Given the description of an element on the screen output the (x, y) to click on. 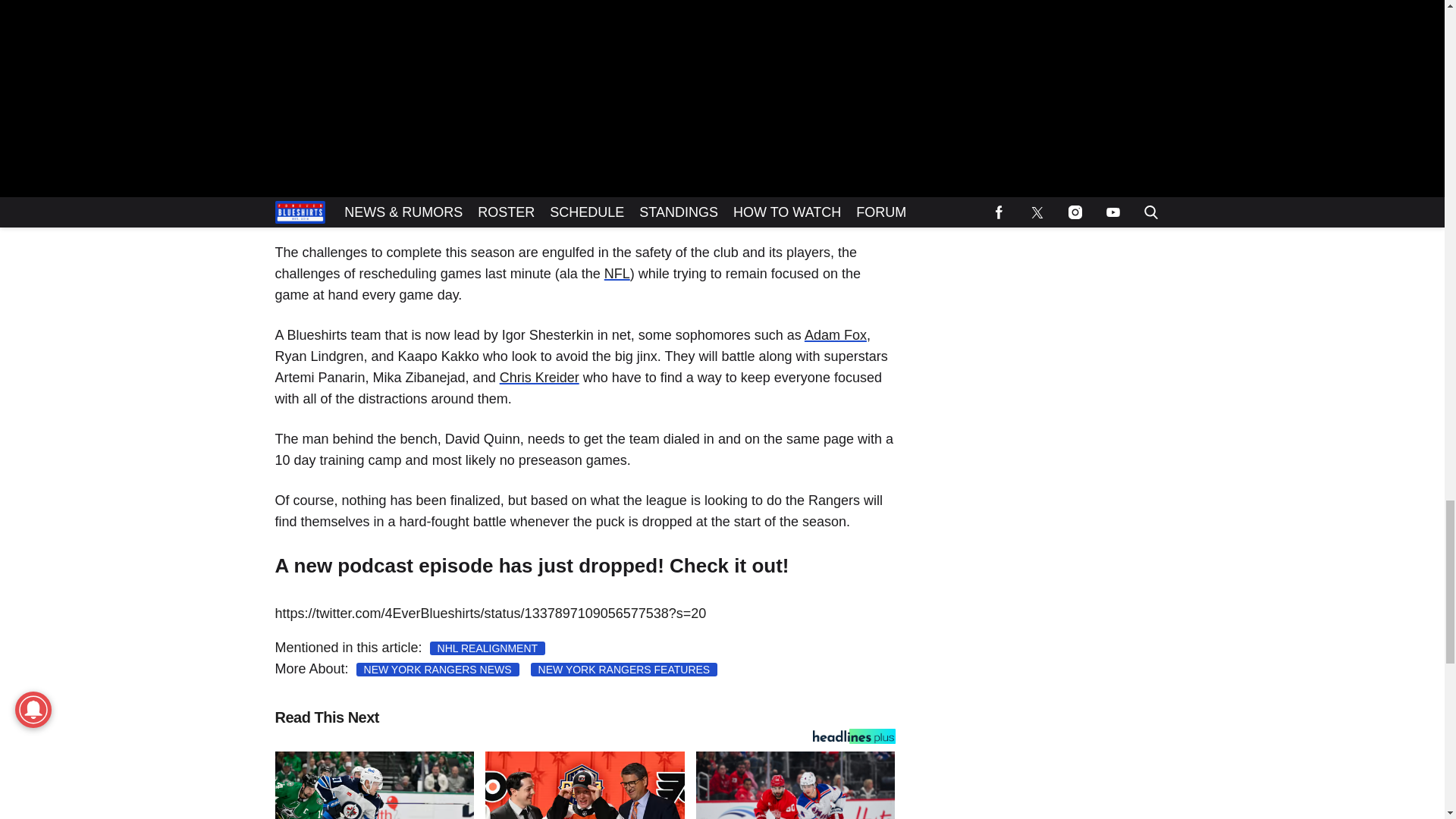
NFL (617, 273)
NHL REALIGNMENT (487, 648)
Adam Fox (835, 335)
NEW YORK RANGERS FEATURES (624, 669)
NEW YORK RANGERS NEWS (437, 669)
Chris Kreider (539, 377)
Alexis Lafreniere (567, 180)
